Given the description of an element on the screen output the (x, y) to click on. 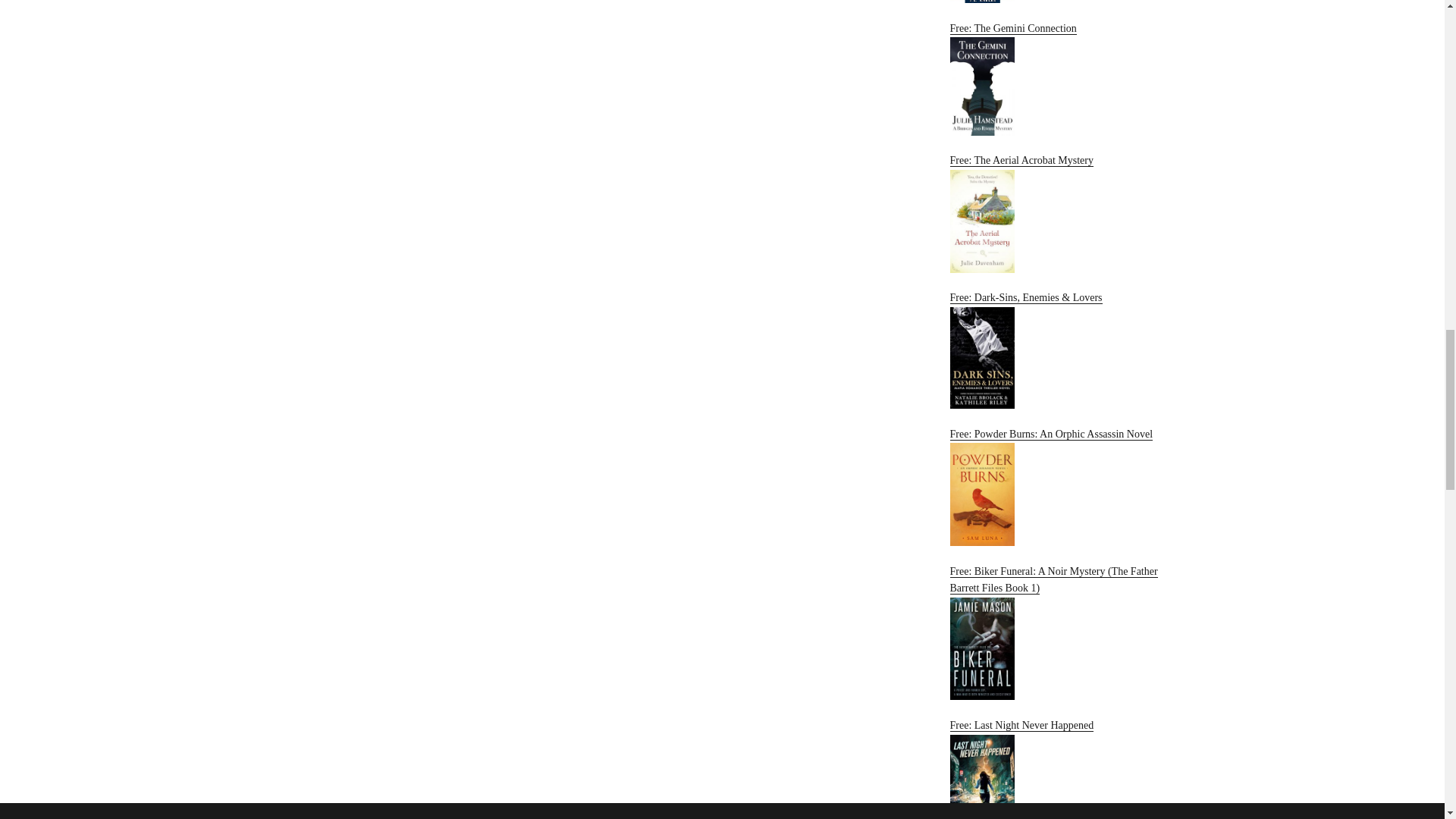
Free: The Aerial Acrobat Mystery (1062, 212)
Free: Last Night Never Happened (1062, 769)
Free: Powder Burns: An Orphic Assassin Novel (1062, 487)
Free: Runway Dreams (1062, 1)
Free: The Gemini Connection (1062, 78)
